Given the description of an element on the screen output the (x, y) to click on. 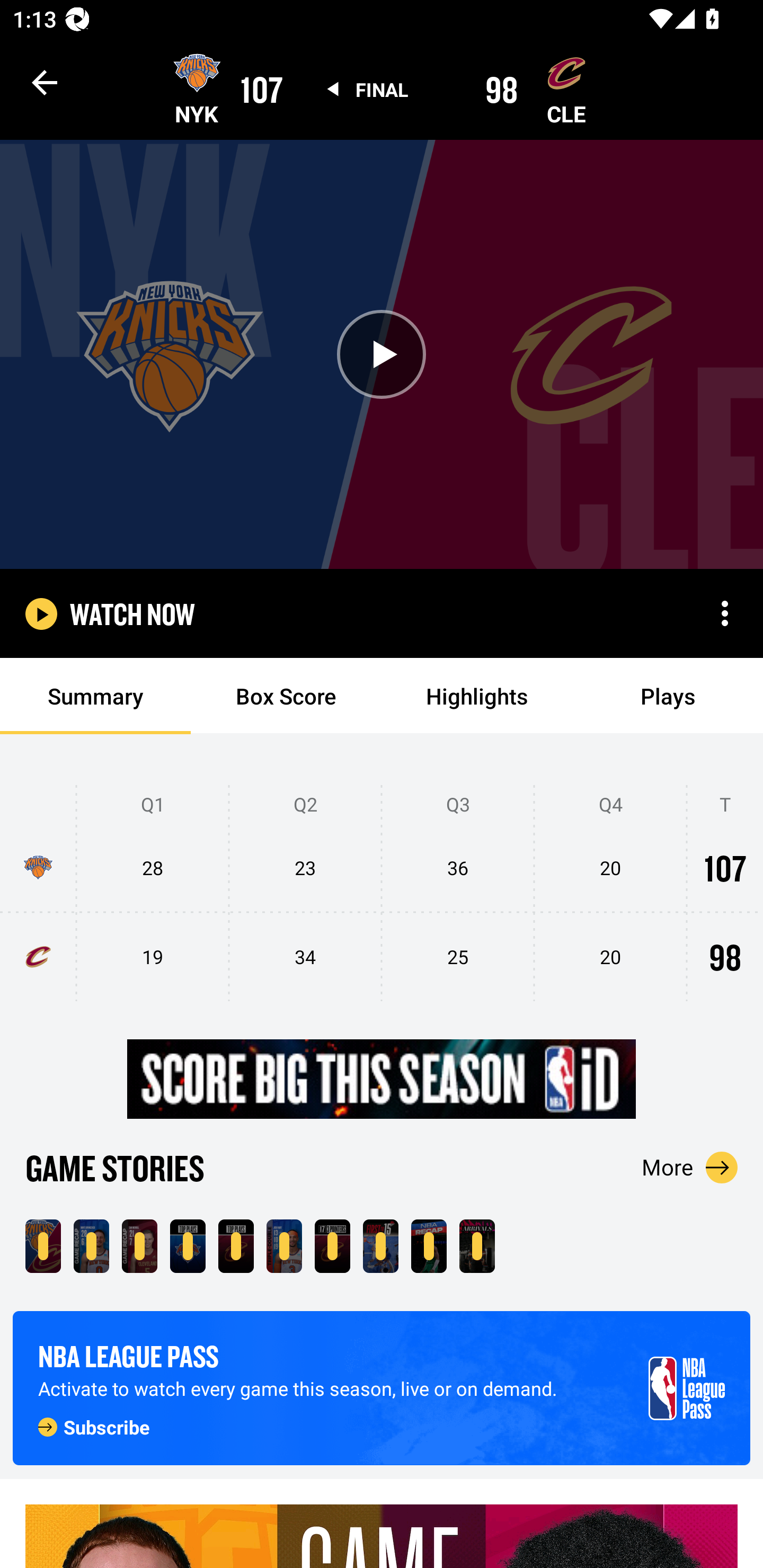
Navigate up (44, 82)
More options (724, 613)
WATCH NOW (132, 613)
Box Score (285, 695)
Highlights (476, 695)
Plays (667, 695)
Q1 Q2 Q3 Q4 T 28 23 36 20 107 19 34 25 20 98 (381, 893)
More (689, 1166)
NEW NYK 107, CLE 98 - Mar 3 (43, 1246)
NEW Highlights From Sam Merrill's 21-Point Game (139, 1246)
NEW NYK's Top Plays from NYK vs. CLE (187, 1246)
NEW CLE's Top Plays from NYK vs. CLE (236, 1246)
Highlights from Josh Hart's Triple-Double NEW (284, 1246)
All 3-pointers from CLE's 17 3-pointer Night NEW (332, 1246)
First To 15, Mar. 3rd NEW (380, 1246)
Sunday's Recap NEW (428, 1246)
Steppin' Into Sunday 🔥 NEW (477, 1246)
